Given the description of an element on the screen output the (x, y) to click on. 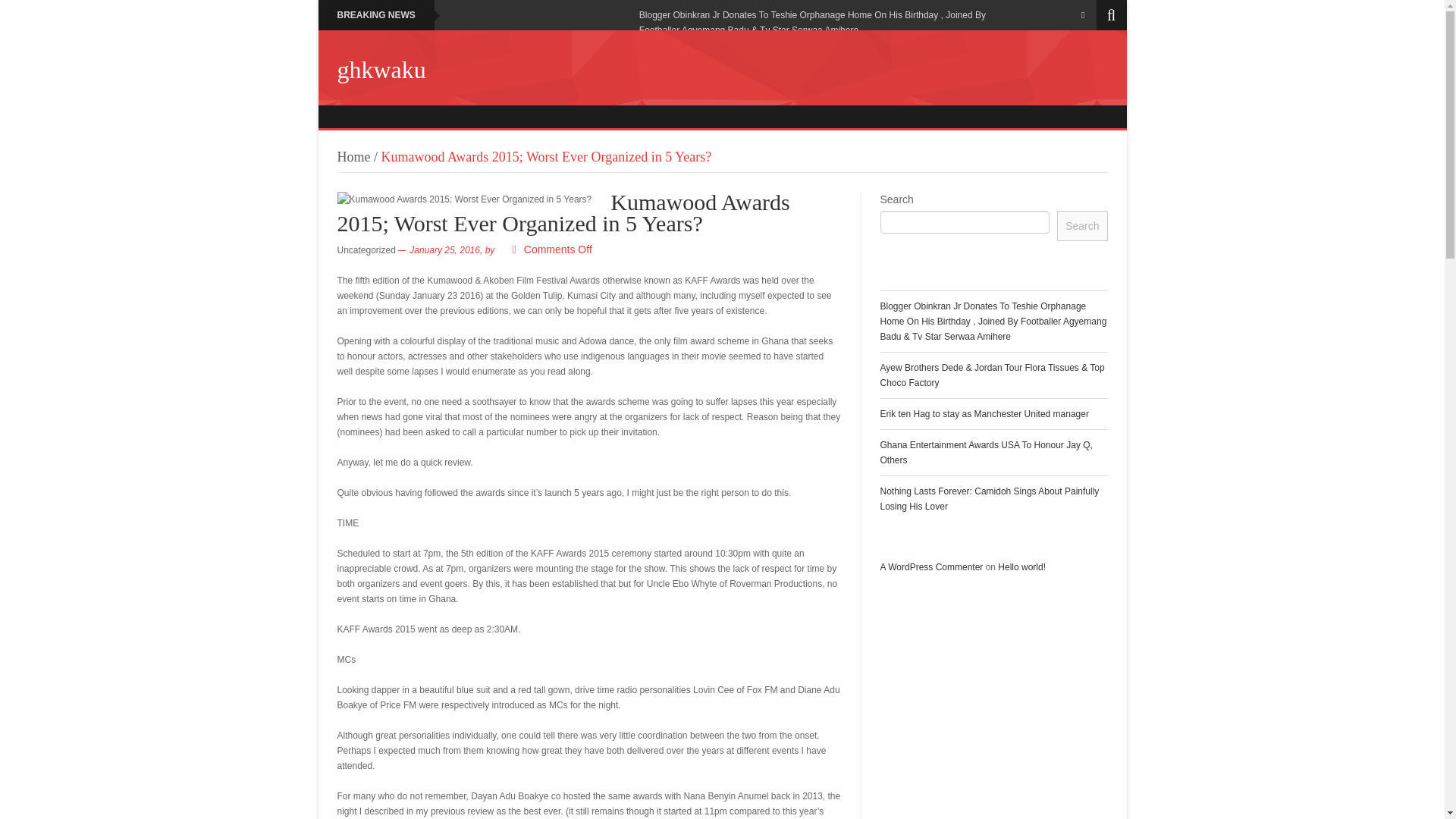
A WordPress Commenter (930, 566)
Search (1081, 225)
Hello world! (1021, 566)
Erik ten Hag to stay as Manchester United manager (983, 413)
Ghana Entertainment Awards USA To Honour Jay Q, Others (985, 452)
Home (352, 156)
ghkwaku (380, 69)
